Given the description of an element on the screen output the (x, y) to click on. 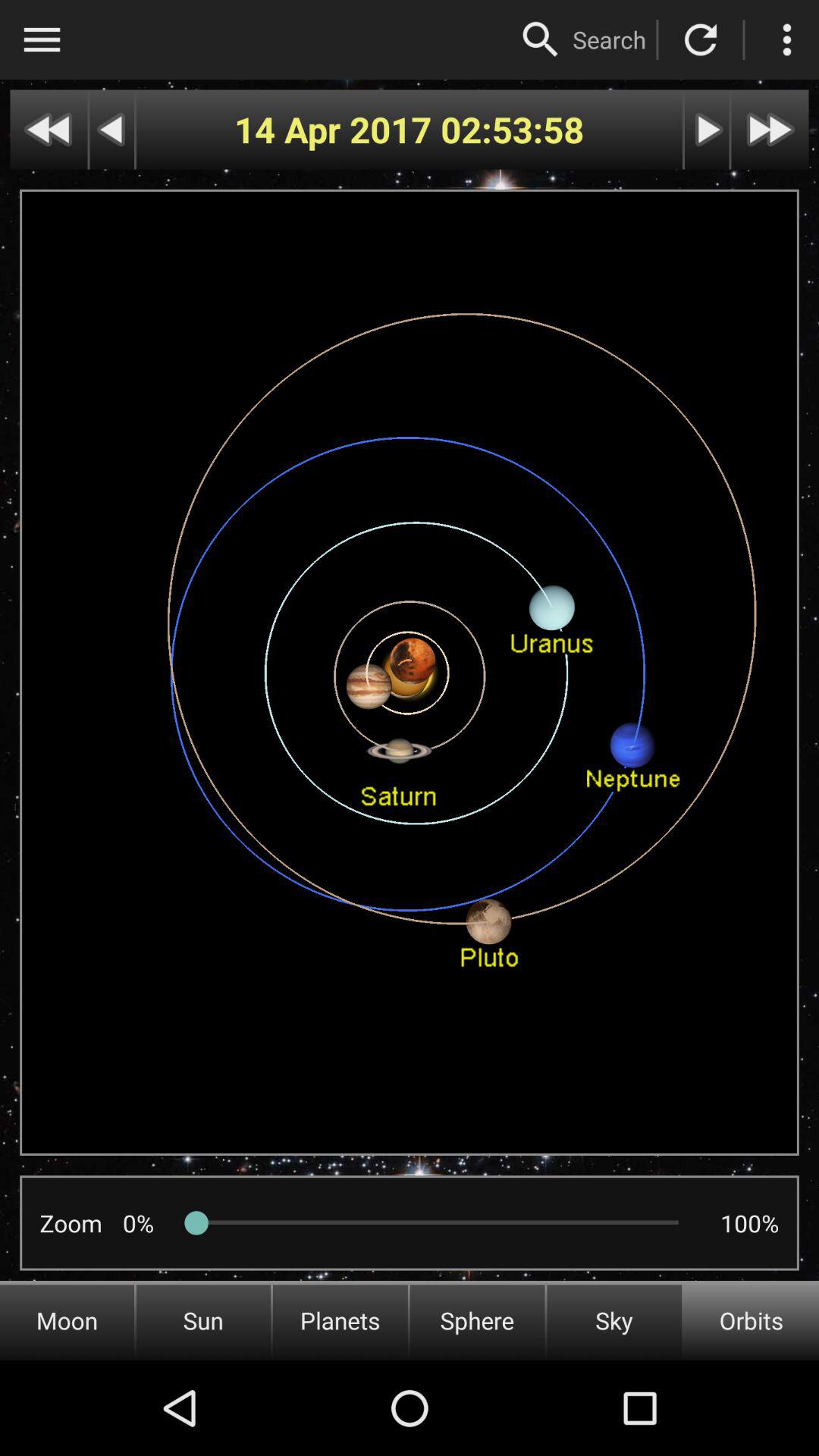
settings button (787, 39)
